Given the description of an element on the screen output the (x, y) to click on. 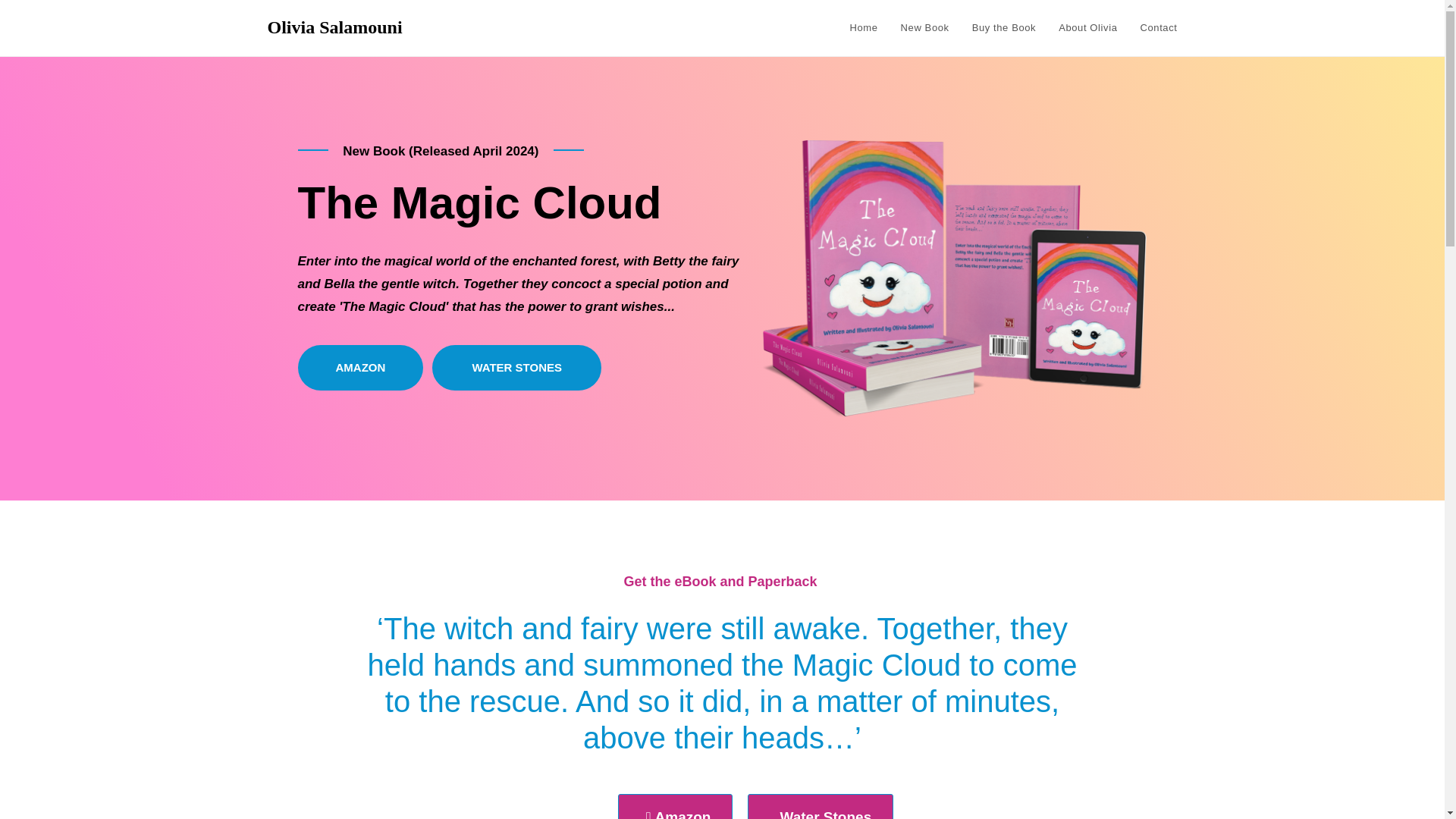
AMAZON (360, 367)
Water Stones (820, 806)
Buy the Book (1004, 28)
Contact (1158, 28)
New Book (924, 28)
Home (863, 28)
Amazon (675, 806)
Olivia Salamouni (333, 26)
WATER STONES (516, 367)
About Olivia (1087, 28)
